Given the description of an element on the screen output the (x, y) to click on. 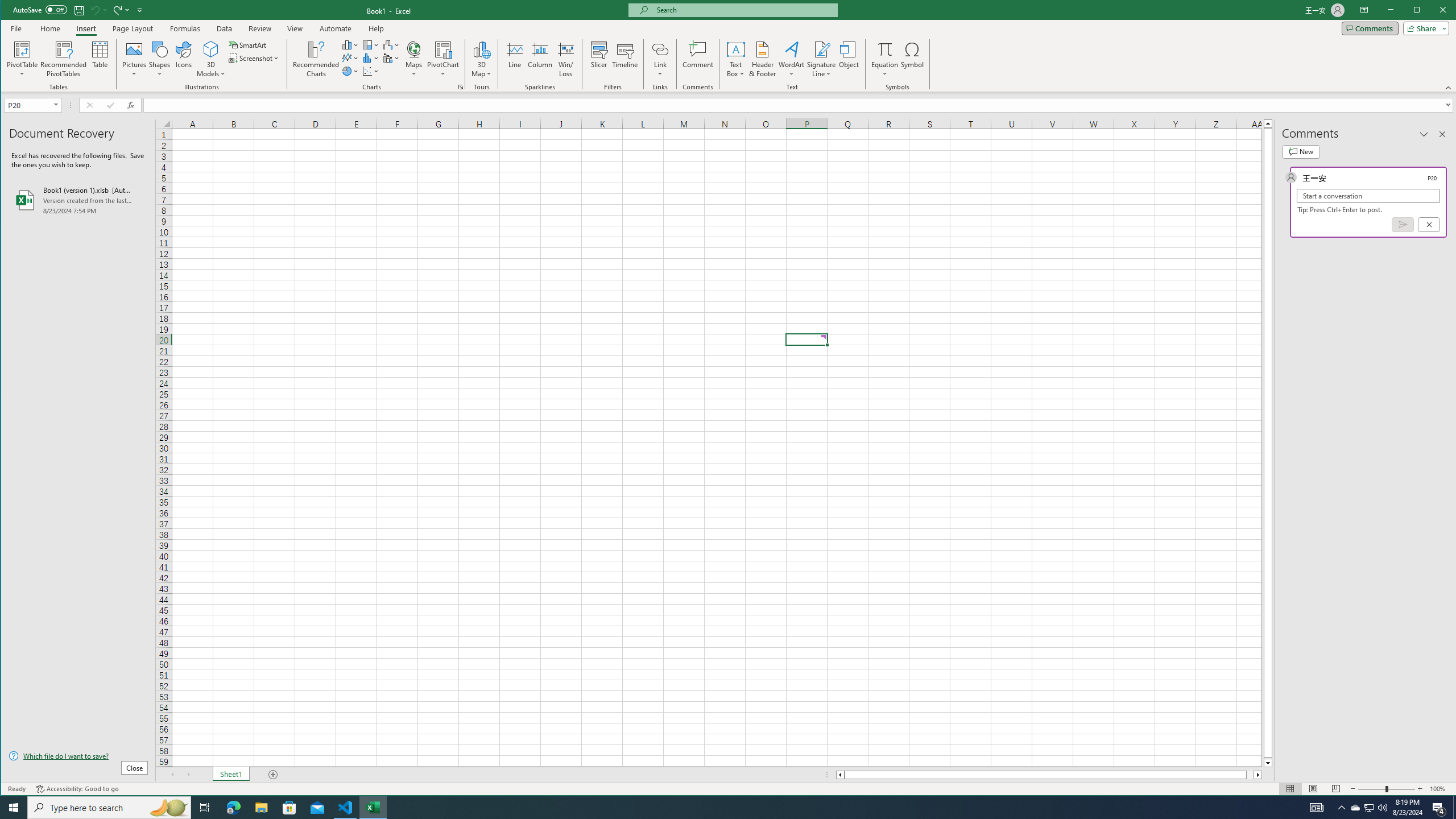
Sheet1 (230, 774)
File Explorer (261, 807)
SmartArt... (248, 44)
Table (100, 59)
Visual Studio Code - 1 running window (345, 807)
Add Sheet (272, 774)
Formulas (184, 28)
Line (514, 59)
Save (79, 9)
Running applications (717, 807)
Insert Column or Bar Chart (350, 44)
Collapse the Ribbon (1448, 87)
3D Models (211, 59)
Action Center, 4 new notifications (1439, 807)
